Given the description of an element on the screen output the (x, y) to click on. 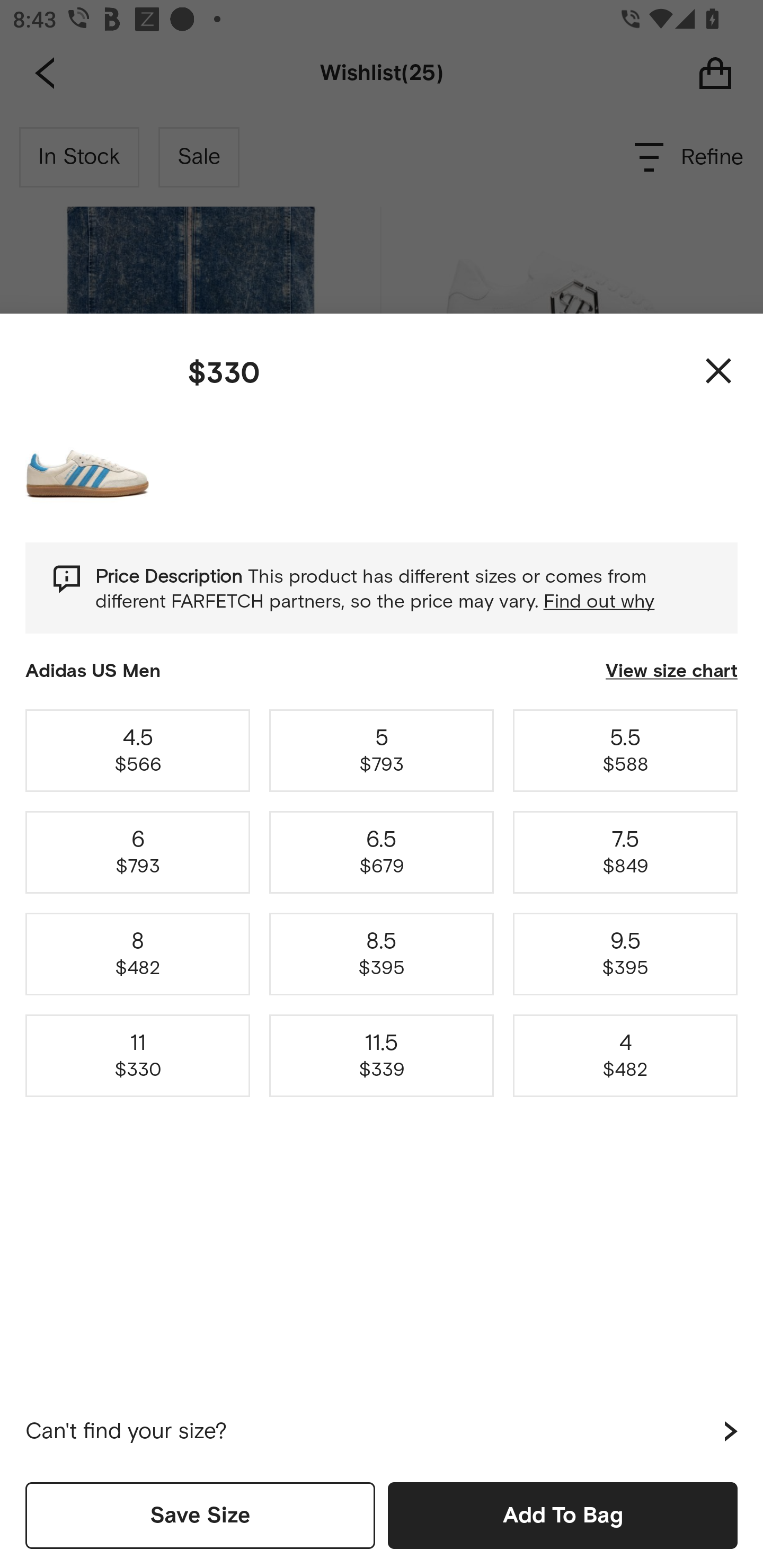
4.5 $566 (137, 749)
5 $793 (381, 749)
5.5 $588 (624, 749)
6 $793 (137, 851)
6.5 $679 (381, 851)
7.5 $849 (624, 851)
8 $482 (137, 953)
8.5 $395 (381, 953)
9.5 $395 (624, 953)
11 $330 (137, 1055)
11.5 $339 (381, 1055)
4 $482 (624, 1055)
Can't find your size? (381, 1431)
Save Size (200, 1515)
Add To Bag (562, 1515)
